Given the description of an element on the screen output the (x, y) to click on. 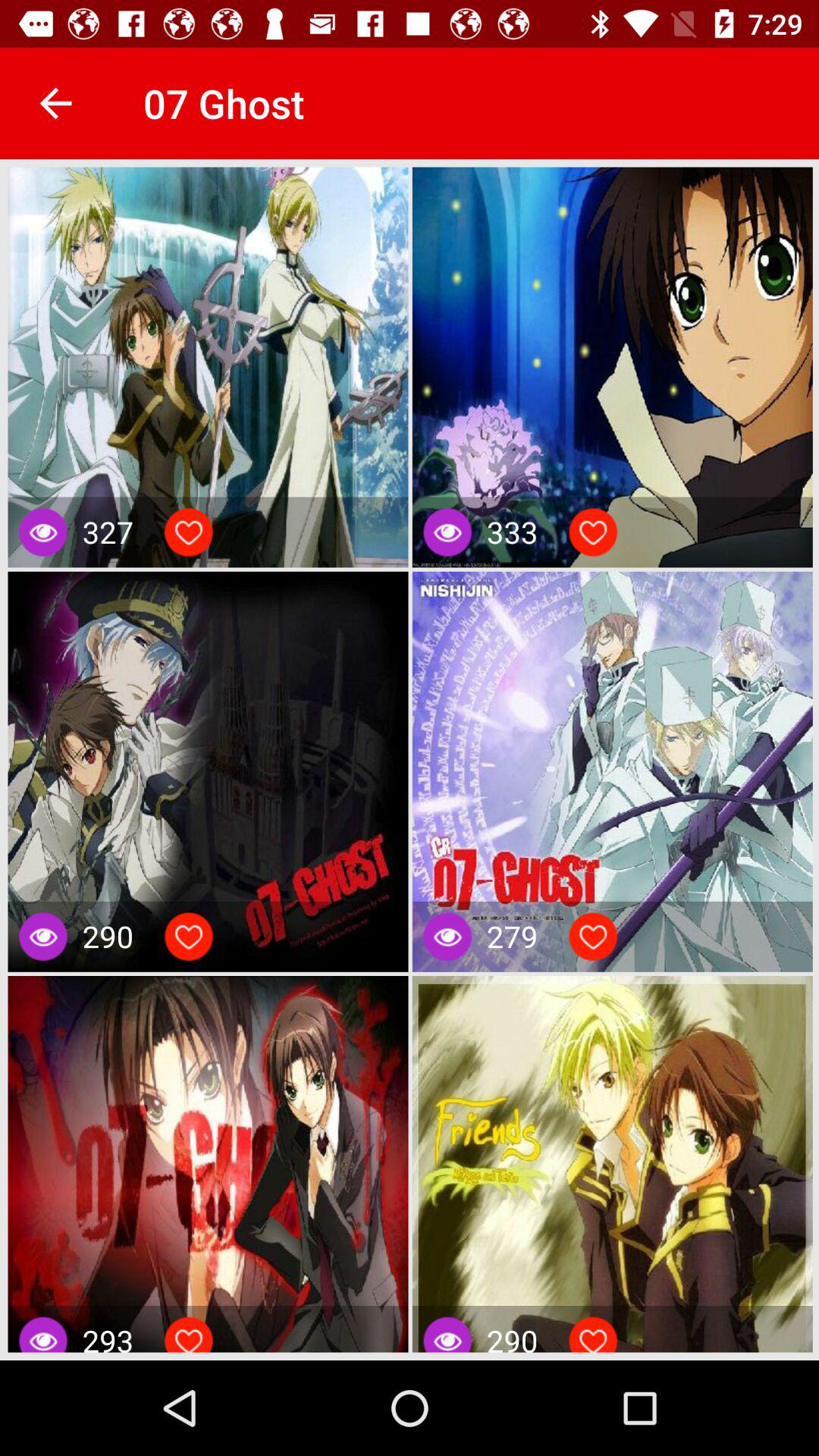
indicate favorite (188, 936)
